Given the description of an element on the screen output the (x, y) to click on. 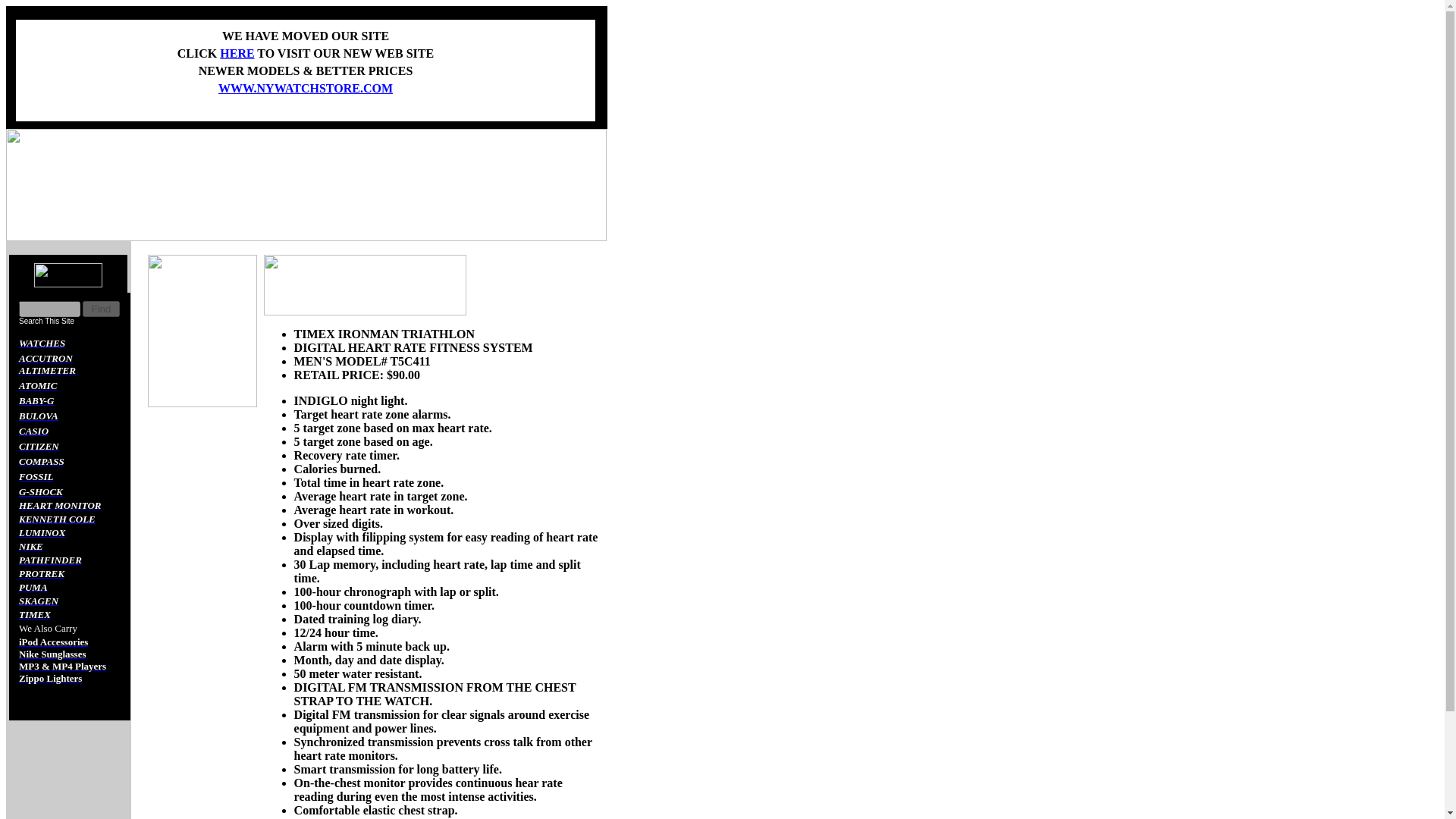
COMPASS (41, 460)
HEART MONITOR (59, 505)
ATOMIC (37, 385)
NIKE (30, 546)
SKAGEN (38, 600)
KENNETH COLE (57, 518)
PUMA (33, 586)
PROTREK (41, 573)
HERE (236, 52)
PATHFINDER (49, 559)
